Given the description of an element on the screen output the (x, y) to click on. 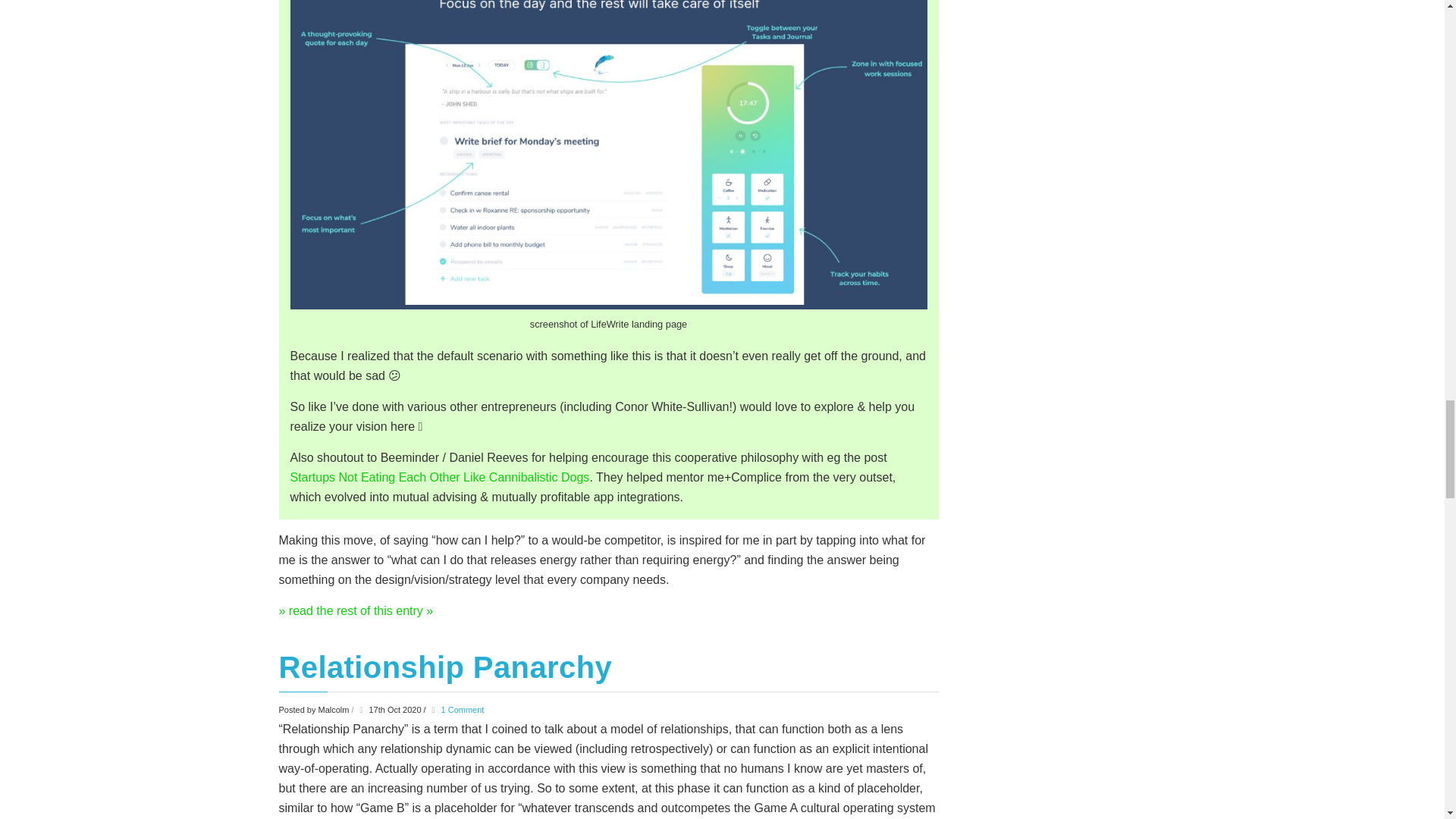
Relationship Panarchy (445, 666)
1 Comment (462, 709)
Startups Not Eating Each Other Like Cannibalistic Dogs (439, 477)
1 Comment (462, 709)
